Given the description of an element on the screen output the (x, y) to click on. 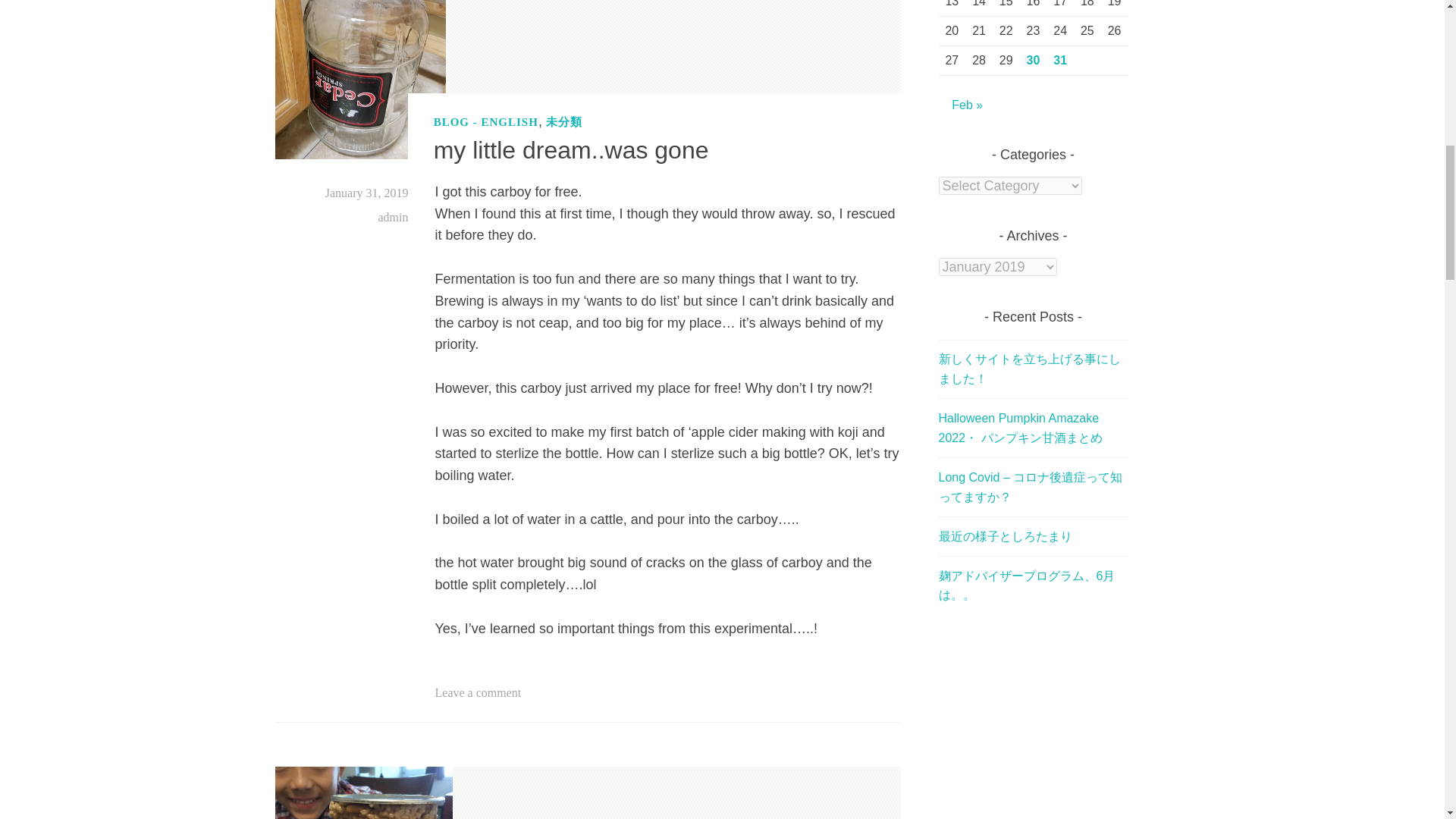
Leave a comment (478, 692)
January 31, 2019 (366, 192)
BLOG - ENGLISH (485, 122)
admin (392, 216)
my little dream..was gone (571, 149)
